Given the description of an element on the screen output the (x, y) to click on. 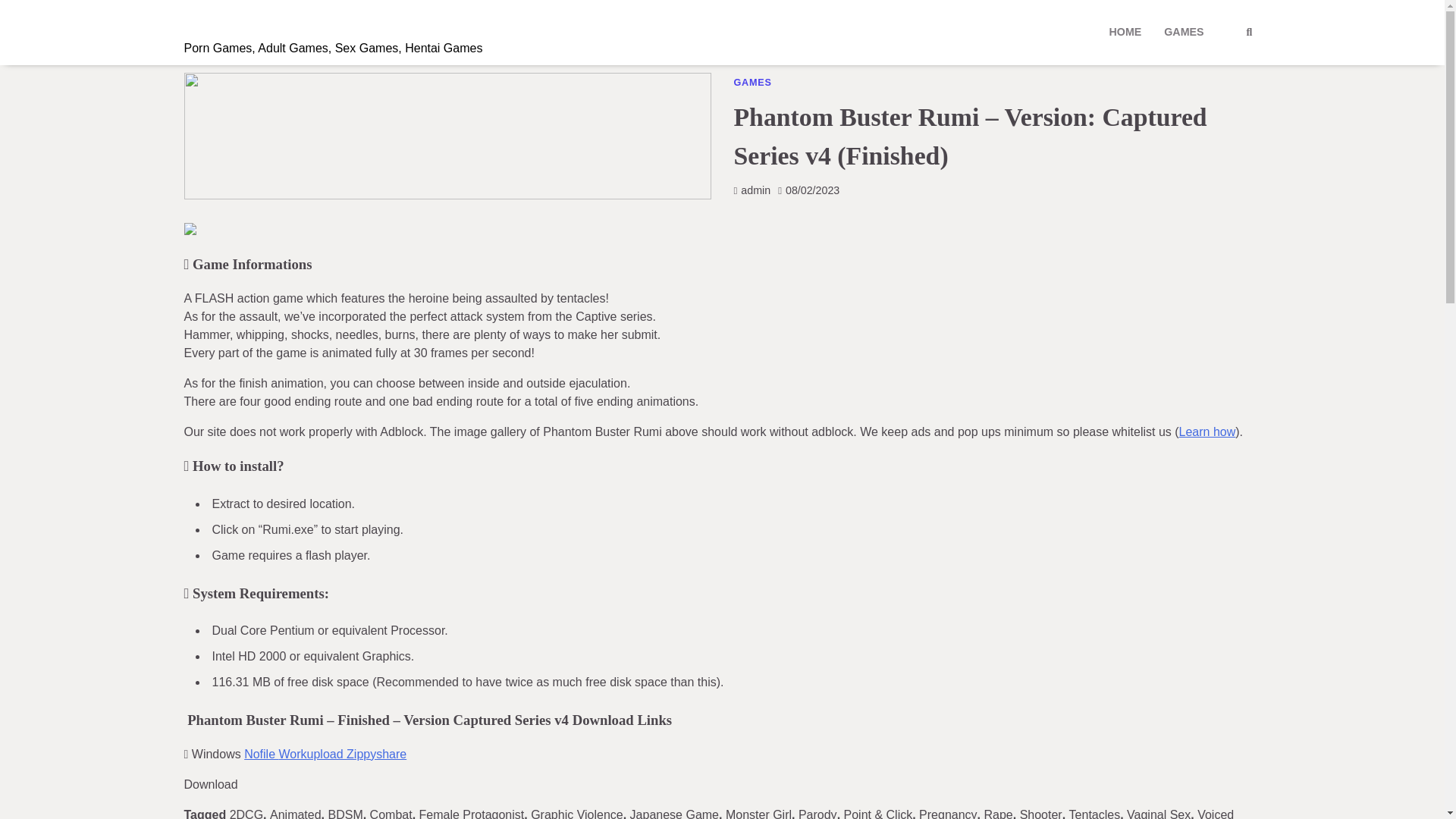
Workupload (313, 753)
Pregnancy (947, 813)
Shooter (1041, 813)
Graphic Violence (577, 813)
Zippyshare (376, 753)
HOME (1125, 32)
Learn how (1207, 431)
2DCG (246, 813)
Voiced (1214, 813)
Japanese Game (674, 813)
GAMES (1183, 32)
Search (1221, 68)
Pas Games (242, 21)
Combat (390, 813)
Nofile (261, 753)
